Given the description of an element on the screen output the (x, y) to click on. 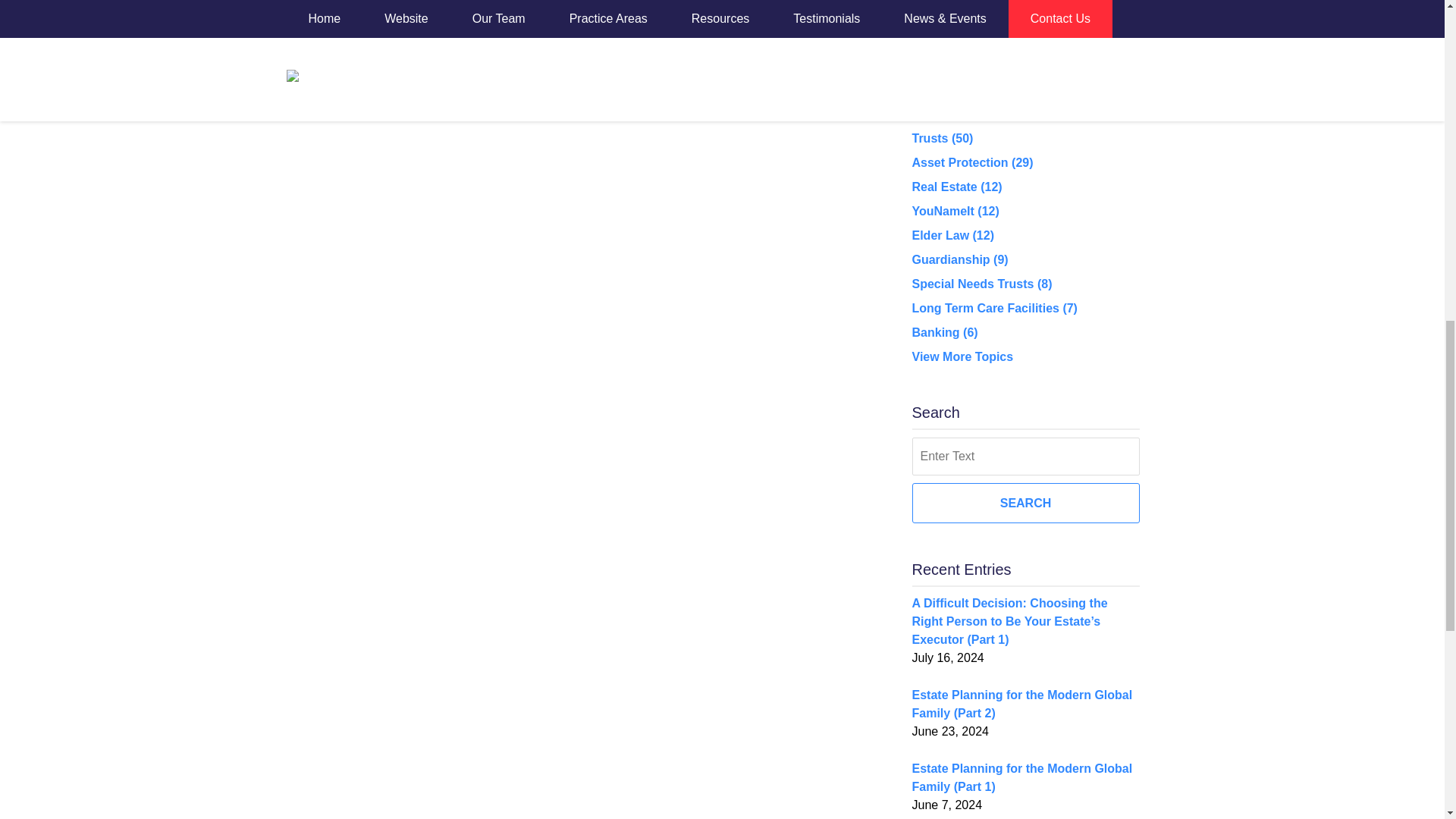
Tax Credits for Illinois Home Buyers (322, 43)
WeChat (1044, 15)
Illinois Powers of Attorney for Health Care (443, 43)
Home (388, 43)
Feed (961, 15)
